Given the description of an element on the screen output the (x, y) to click on. 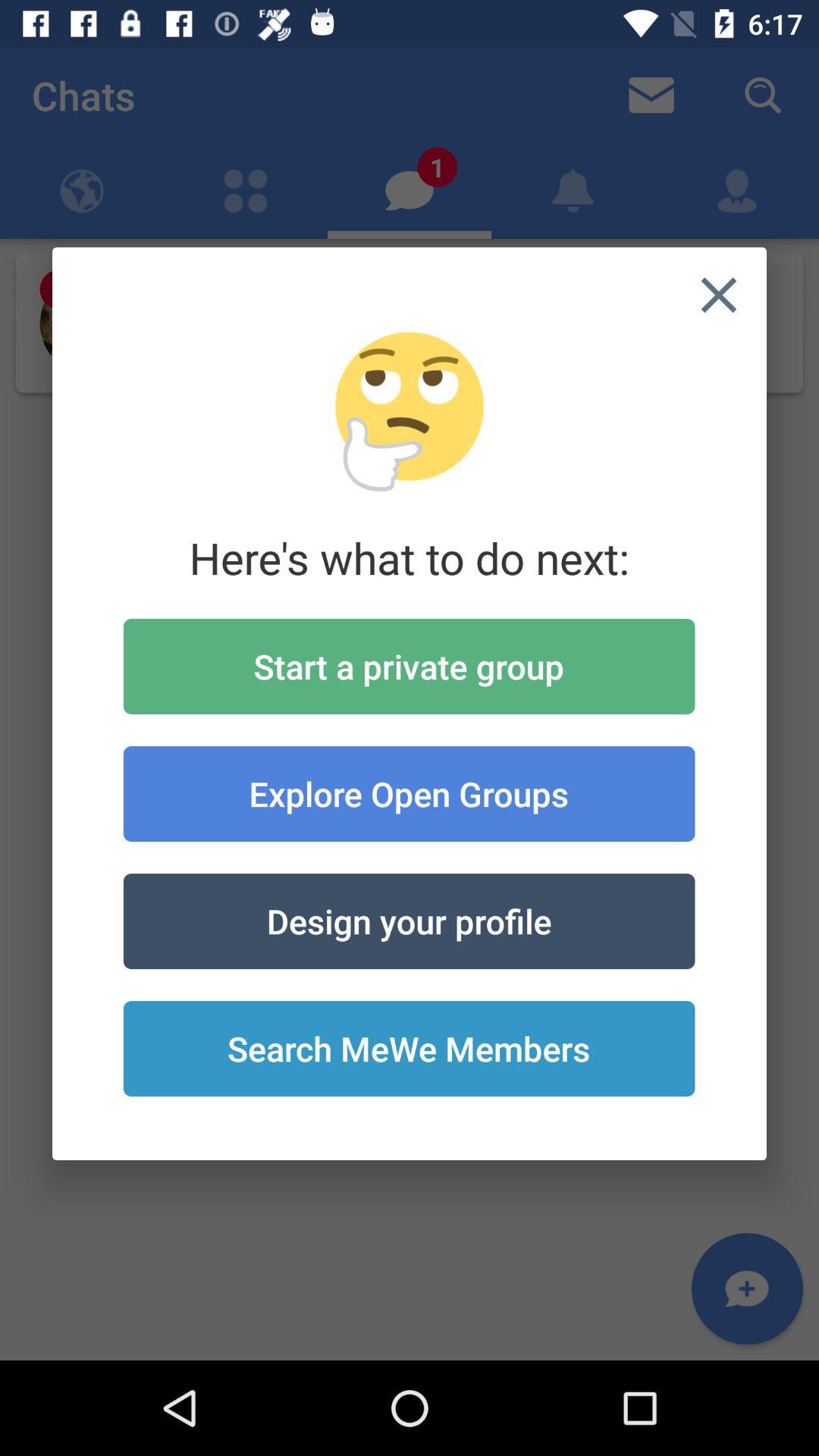
tap item above the start a private icon (718, 295)
